Given the description of an element on the screen output the (x, y) to click on. 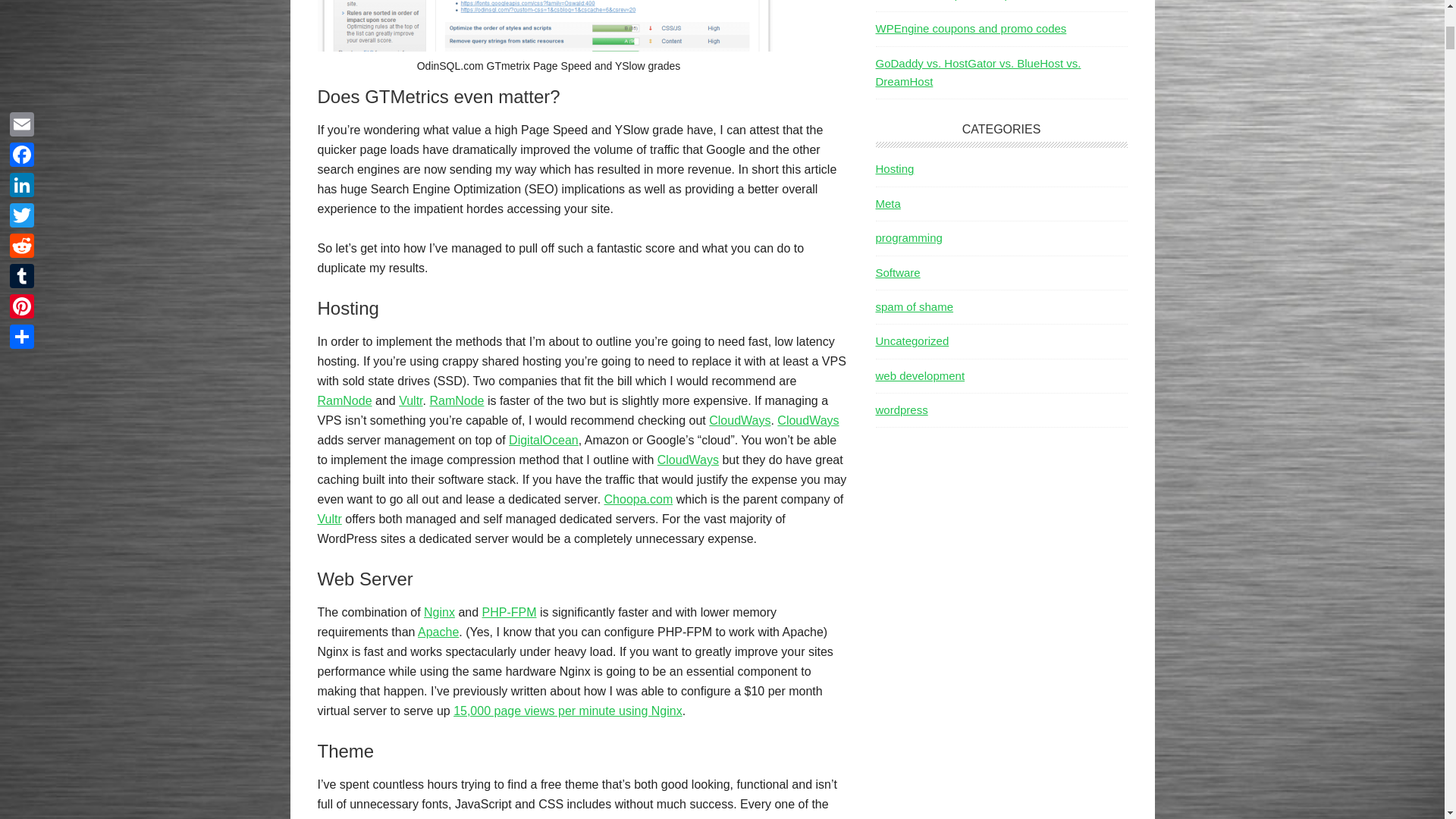
DigitalOcean (543, 440)
PHP-FPM (509, 612)
Vultr (328, 518)
CloudWays (739, 420)
Choopa.com (638, 499)
Vultr (410, 400)
Apache (437, 631)
CloudWays (688, 459)
Nginx (438, 612)
RamNode (344, 400)
